Given the description of an element on the screen output the (x, y) to click on. 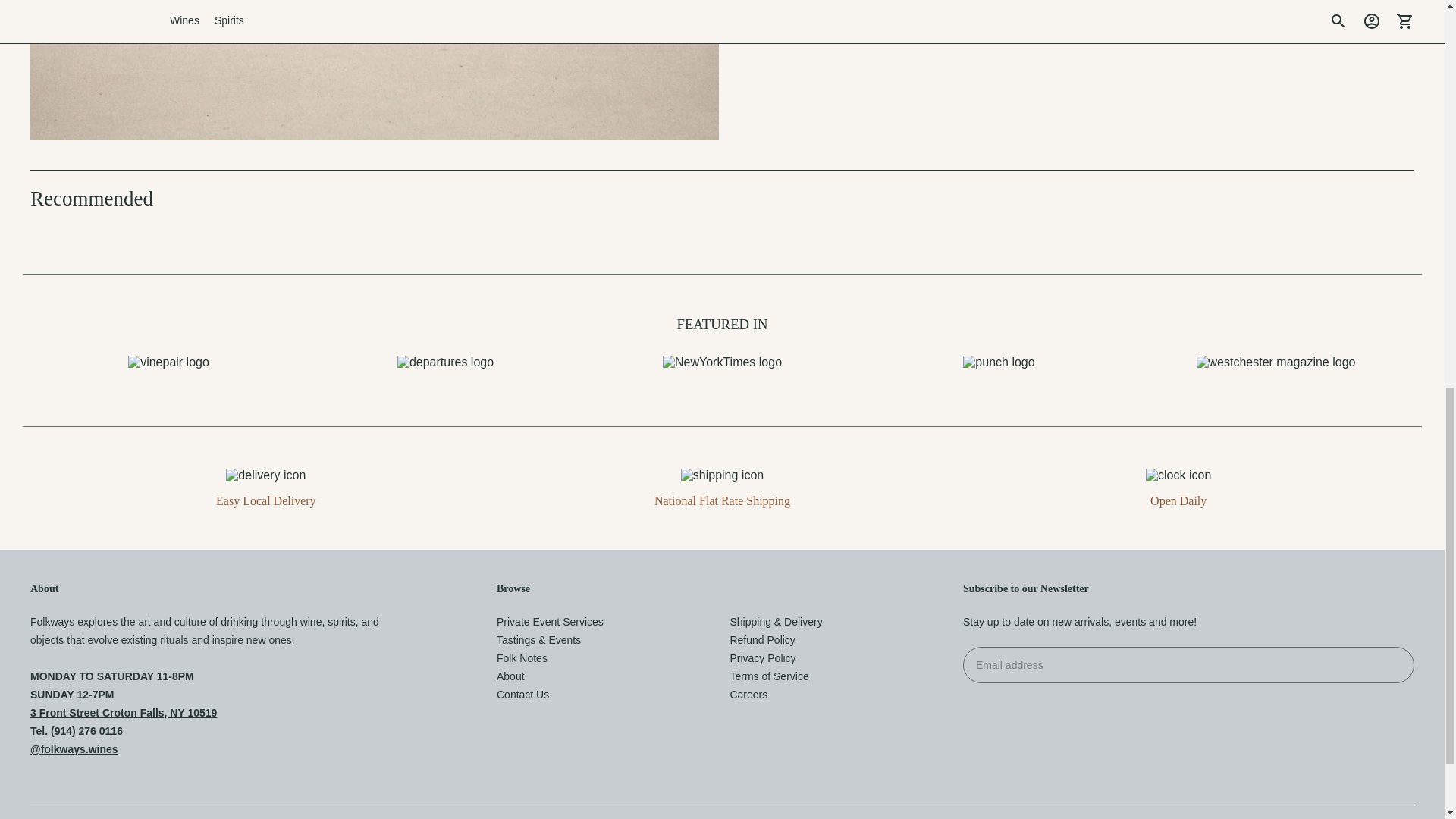
Private Event Services (550, 621)
Folk Notes (521, 657)
3 Front Street Croton Falls, NY 10519 (123, 712)
Privacy Policy (761, 657)
Careers (748, 694)
Open Image (374, 69)
About (510, 676)
Refund Policy (761, 639)
Contact Us (522, 694)
Terms of Service (768, 676)
